Given the description of an element on the screen output the (x, y) to click on. 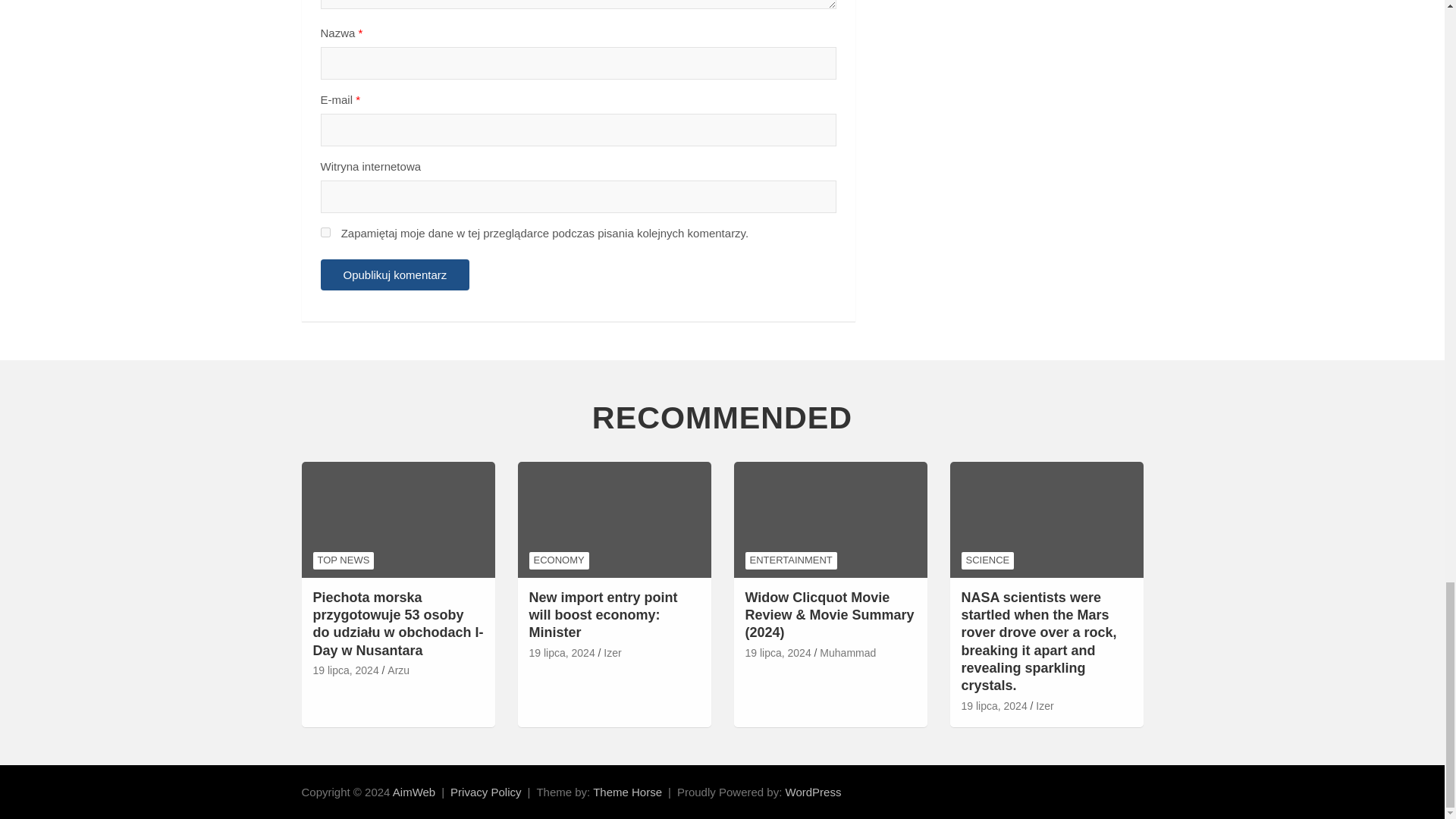
New import entry point will boost economy: Minister (562, 653)
Opublikuj komentarz (394, 274)
TOP NEWS (343, 560)
19 lipca, 2024 (345, 670)
AimWeb (414, 791)
Opublikuj komentarz (394, 274)
Theme Horse (627, 791)
yes (325, 232)
WordPress (813, 791)
